Given the description of an element on the screen output the (x, y) to click on. 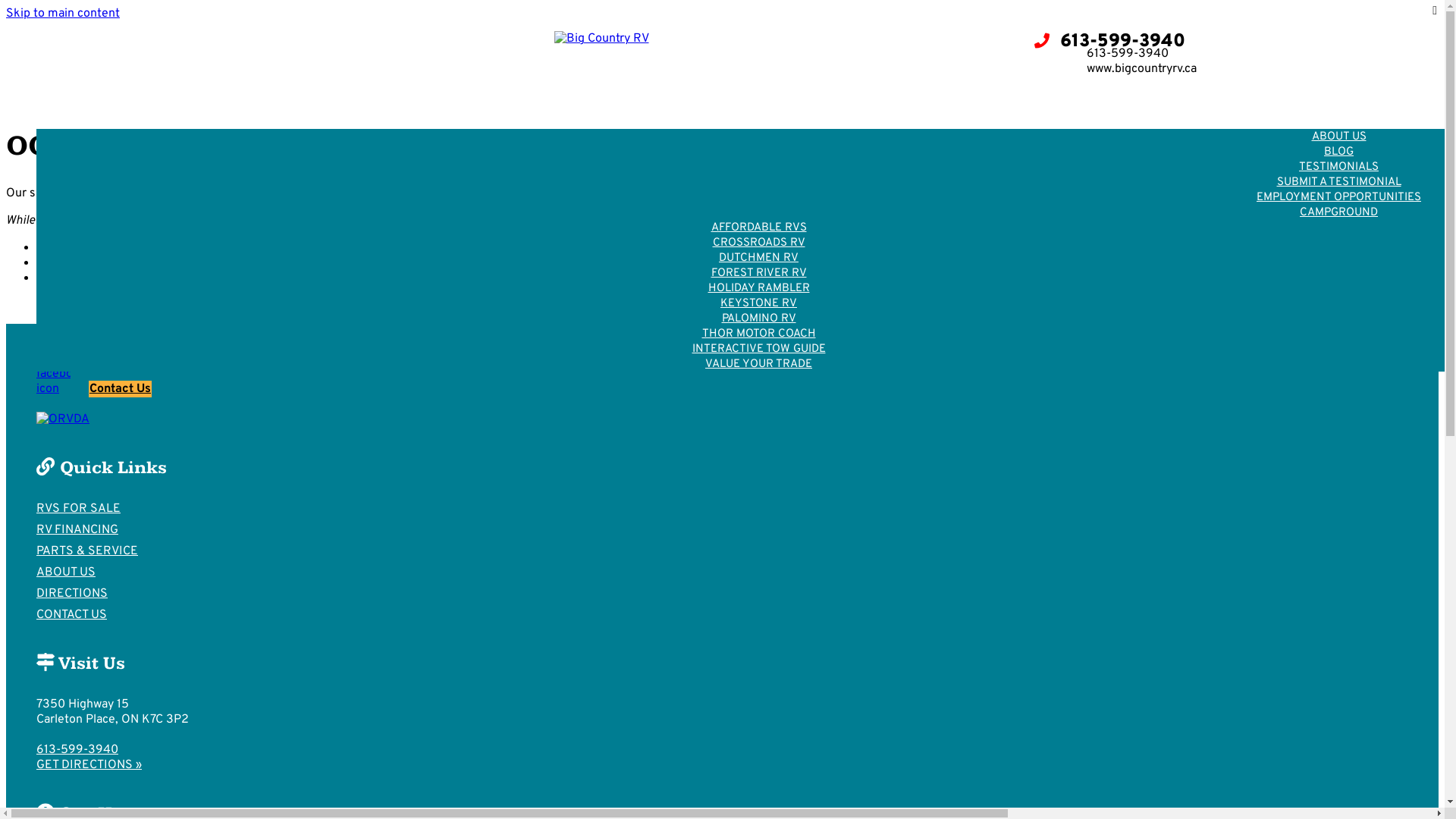
613-599-3940 Element type: text (1109, 41)
NEW RVS Element type: text (757, 136)
Search for an RV Element type: text (81, 262)
PARTS & SERVICE Element type: text (87, 550)
EASY TO TOW RVS Element type: text (758, 212)
AFFORDABLE RVS Element type: text (758, 227)
CAMPGROUND Element type: text (1338, 212)
RV SERVICE Element type: text (1053, 166)
RV PARTS SPECIALS Element type: text (1052, 151)
Visit our Home page Element type: text (91, 247)
PARTS & SERVICE Element type: text (437, 93)
ABOUT US Element type: text (65, 572)
KEYSTONE RV Element type: text (758, 303)
USED RVS Element type: text (758, 151)
TESTIMONIALS Element type: text (1338, 166)
RV SERVICE SPECIALS Element type: text (1052, 182)
VALUE YOUR TRADE Element type: text (758, 364)
DIRECTIONS Element type: text (1026, 93)
ABOUT US Element type: text (712, 93)
BUNKHOUSE RVS Element type: text (758, 182)
DIRECTIONS Element type: text (71, 593)
THOR MOTOR COACH Element type: text (758, 333)
RV PARTS Element type: text (1053, 136)
FOREST RIVER RV Element type: text (758, 273)
DUTCHMEN RV Element type: text (758, 257)
BLOG Element type: text (1338, 151)
RV FINANCING Element type: text (279, 93)
RV FINANCING Element type: text (77, 529)
RVS FOR SALE Element type: text (78, 508)
RVS WITH OUTDOOR KITCHENS Element type: text (757, 197)
SPECIALS Element type: text (758, 166)
HOLIDAY RAMBLER Element type: text (758, 288)
Contact Us Element type: text (66, 277)
613-599-3940 Element type: text (77, 749)
PALOMINO RV Element type: text (757, 318)
INTERACTIVE TOW GUIDE Element type: text (758, 348)
RVS FOR SALE Element type: text (132, 93)
CONTACT US Element type: text (868, 93)
EMPLOYMENT OPPORTUNITIES Element type: text (1338, 197)
CONTACT US Element type: text (71, 614)
SUBMIT A TESTIMONIAL Element type: text (1338, 182)
Contact Us Element type: text (119, 388)
ABOUT US Element type: text (1338, 136)
CROSSROADS RV Element type: text (757, 242)
Skip to main content Element type: text (62, 13)
